Given the description of an element on the screen output the (x, y) to click on. 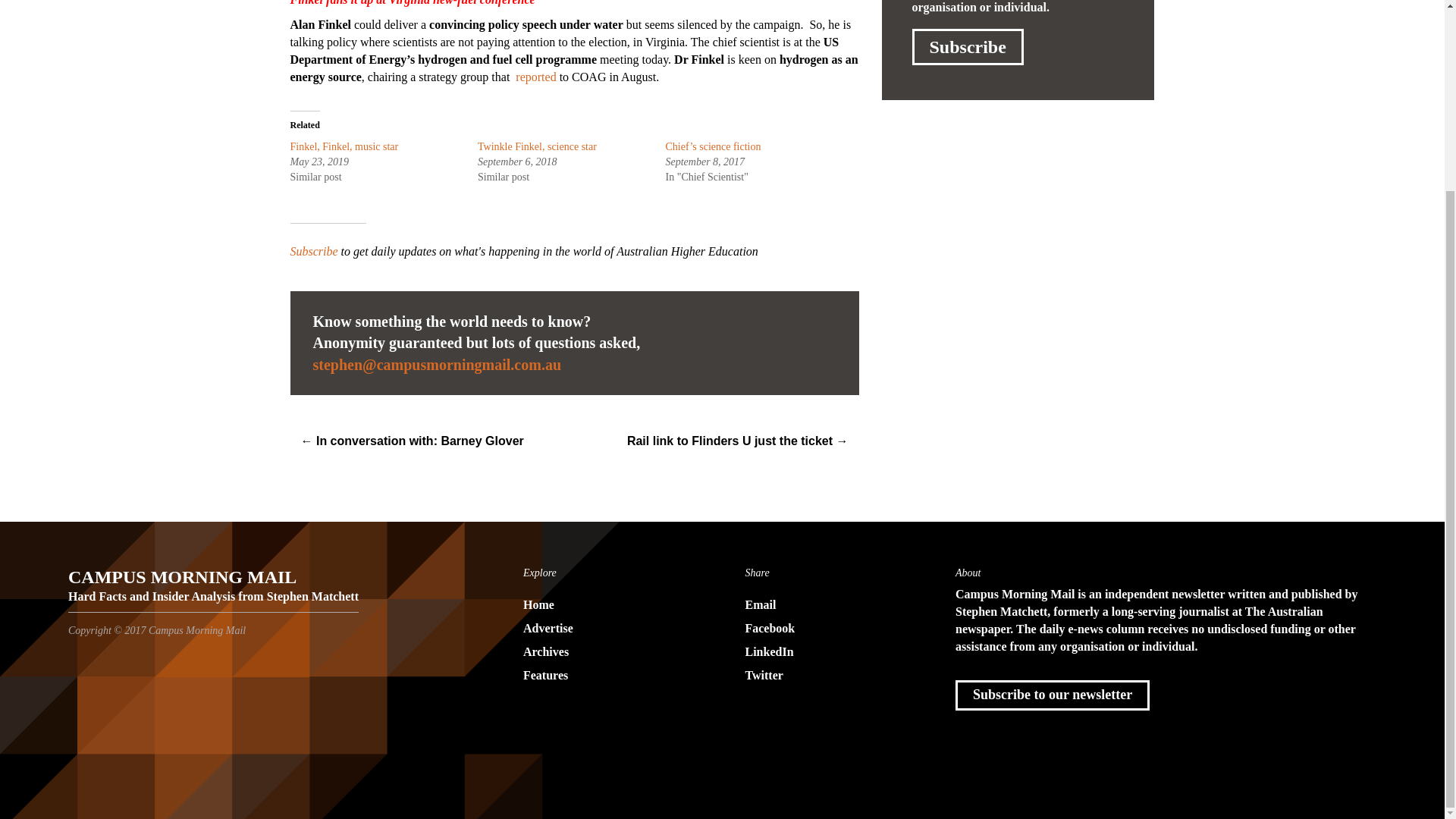
reported (537, 76)
Advertise (611, 628)
Subscribe (967, 46)
Email (436, 364)
Features (611, 675)
Home (611, 605)
Facebook (833, 628)
Email (833, 605)
Archives (611, 652)
Advertise (611, 628)
Features (611, 675)
Archives (611, 652)
Twinkle Finkel, science star   (539, 146)
Twitter (833, 675)
